Given the description of an element on the screen output the (x, y) to click on. 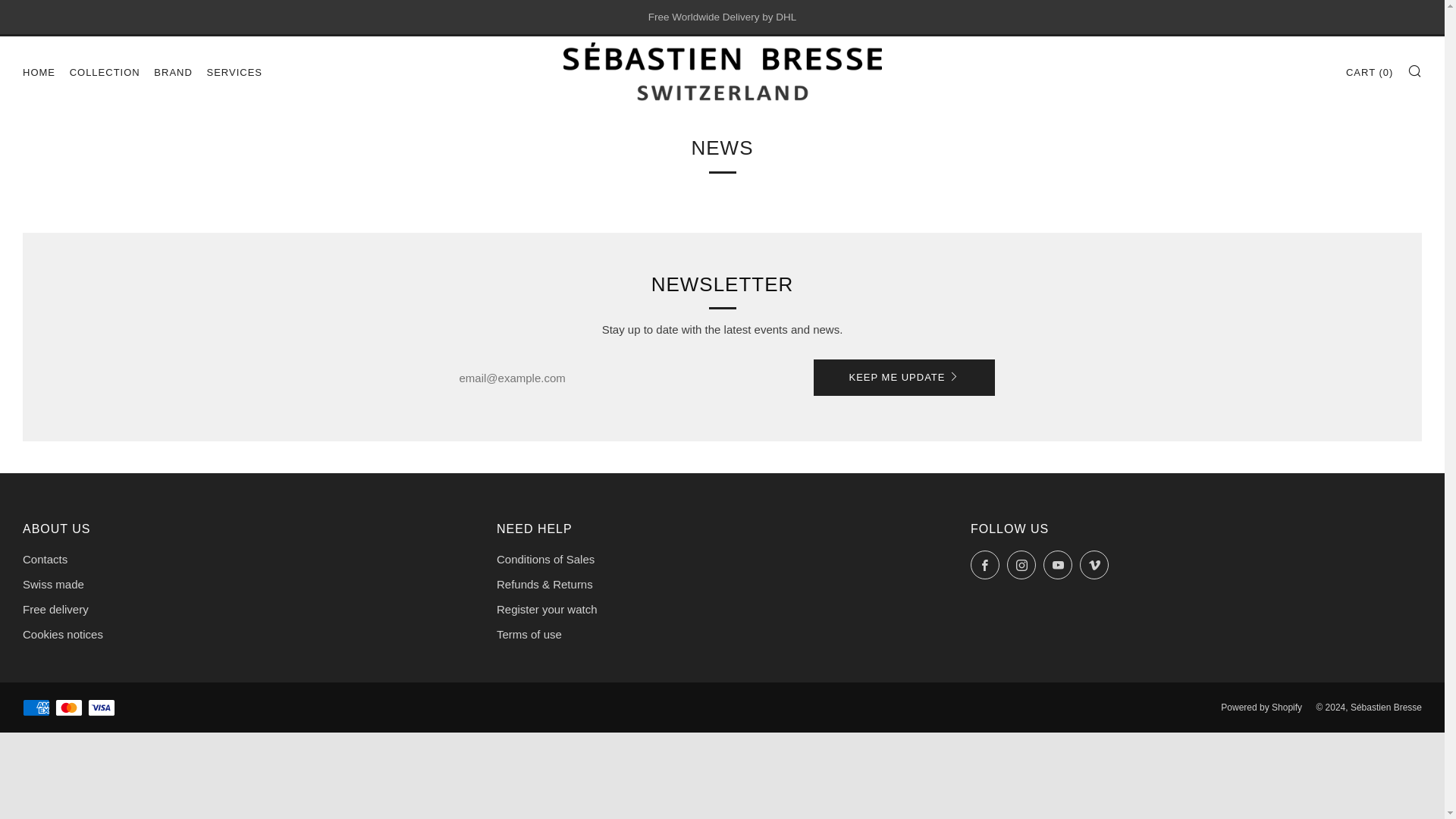
American Express (36, 707)
Swiss made (53, 584)
HOME (39, 72)
YouTube (1057, 564)
Instagram (1021, 564)
SEARCH (1414, 69)
COLLECTION (104, 72)
Vimeo (1094, 564)
Register your watch (546, 608)
Powered by Shopify (1261, 706)
Contacts (44, 558)
Visa (101, 707)
Cookies notices (63, 634)
Free delivery (55, 608)
SERVICES (234, 72)
